Given the description of an element on the screen output the (x, y) to click on. 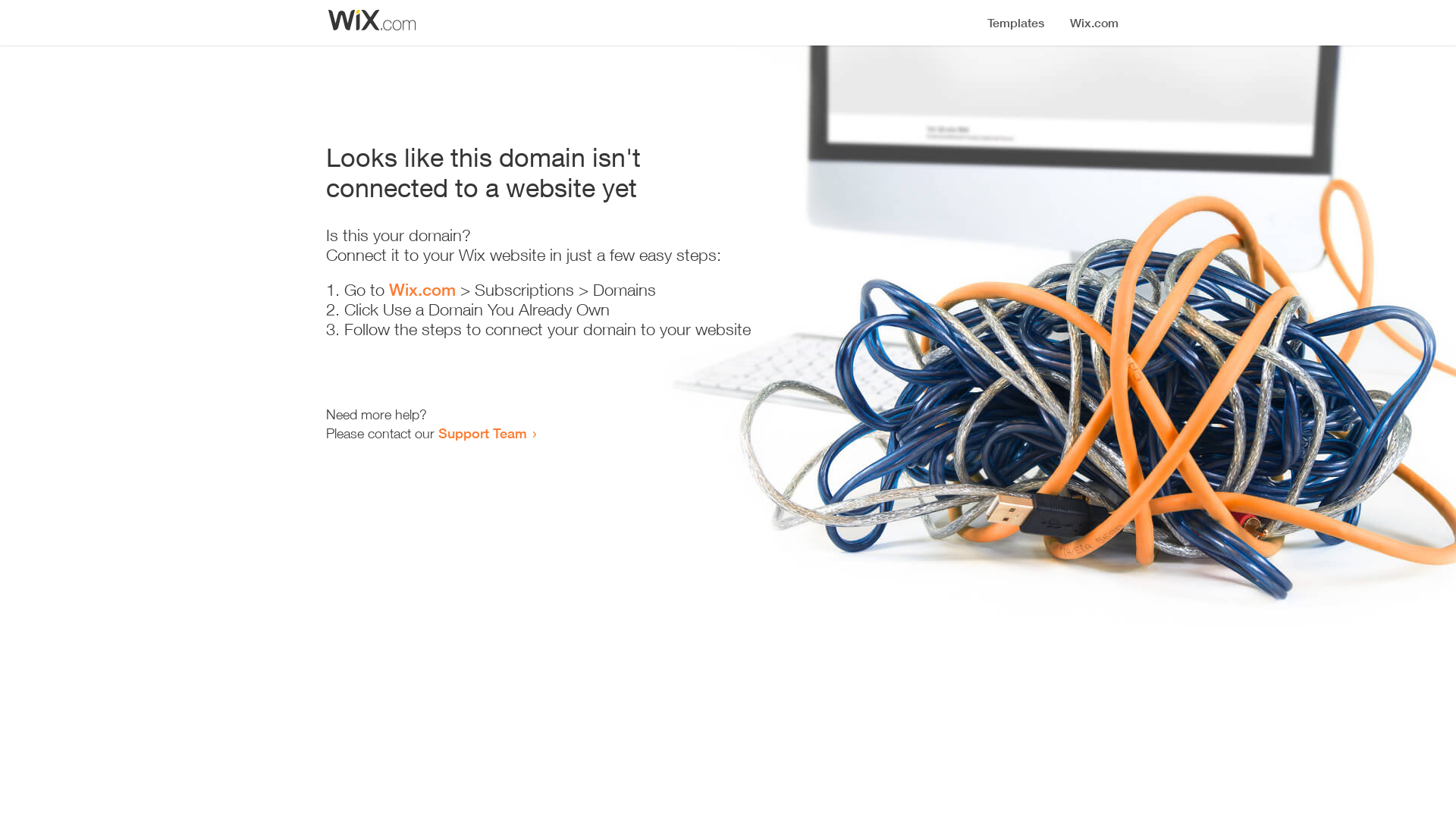
Support Team Element type: text (482, 432)
Wix.com Element type: text (422, 289)
